Given the description of an element on the screen output the (x, y) to click on. 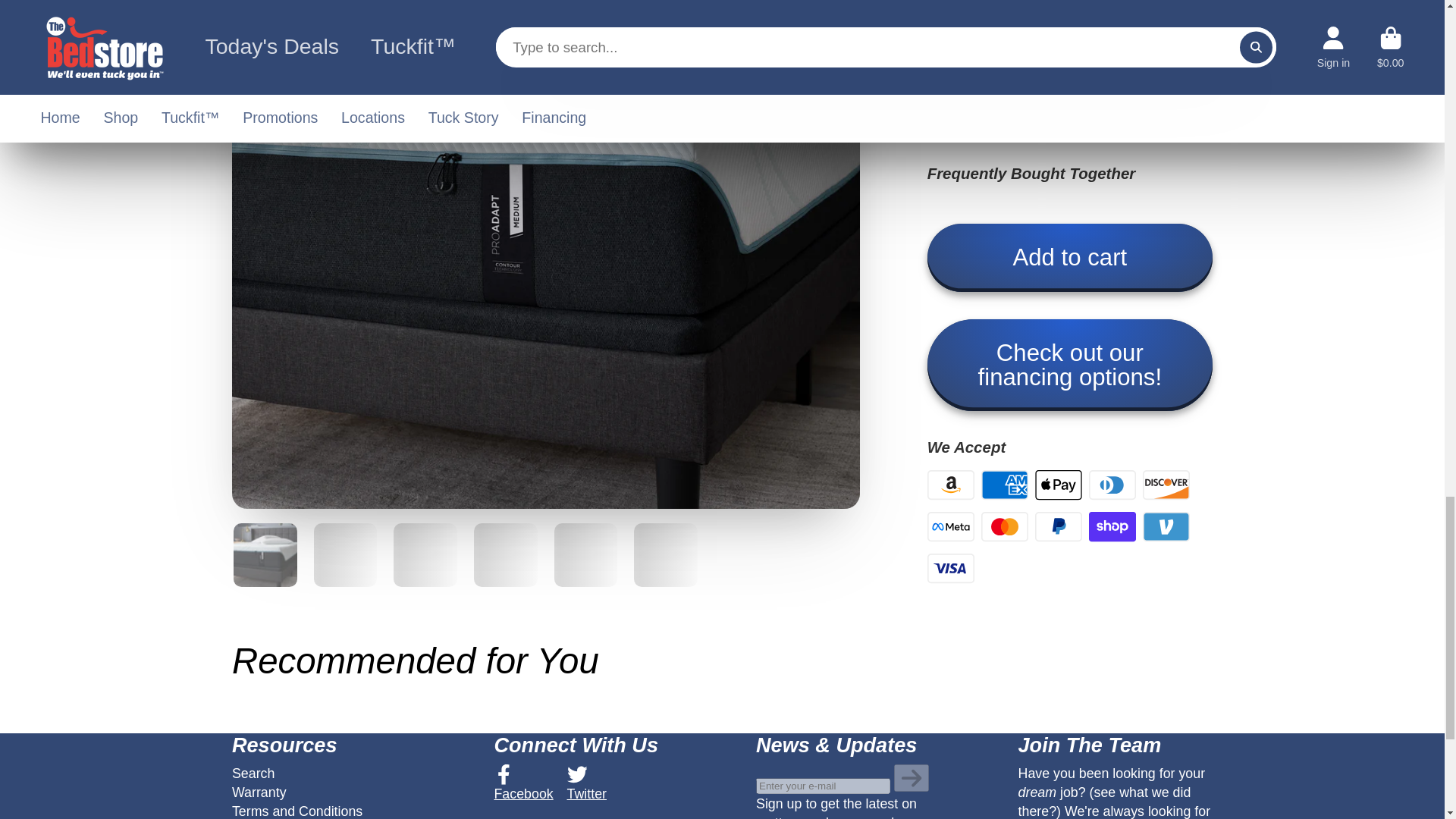
Twitter (587, 783)
Amazon (950, 484)
Check out our financing options! (1069, 365)
Add to cart (1069, 257)
Meta Pay (950, 526)
PayPal (1058, 526)
Apple Pay (1058, 484)
Search (253, 773)
Warranty (258, 792)
Shop Pay (1112, 526)
